Given the description of an element on the screen output the (x, y) to click on. 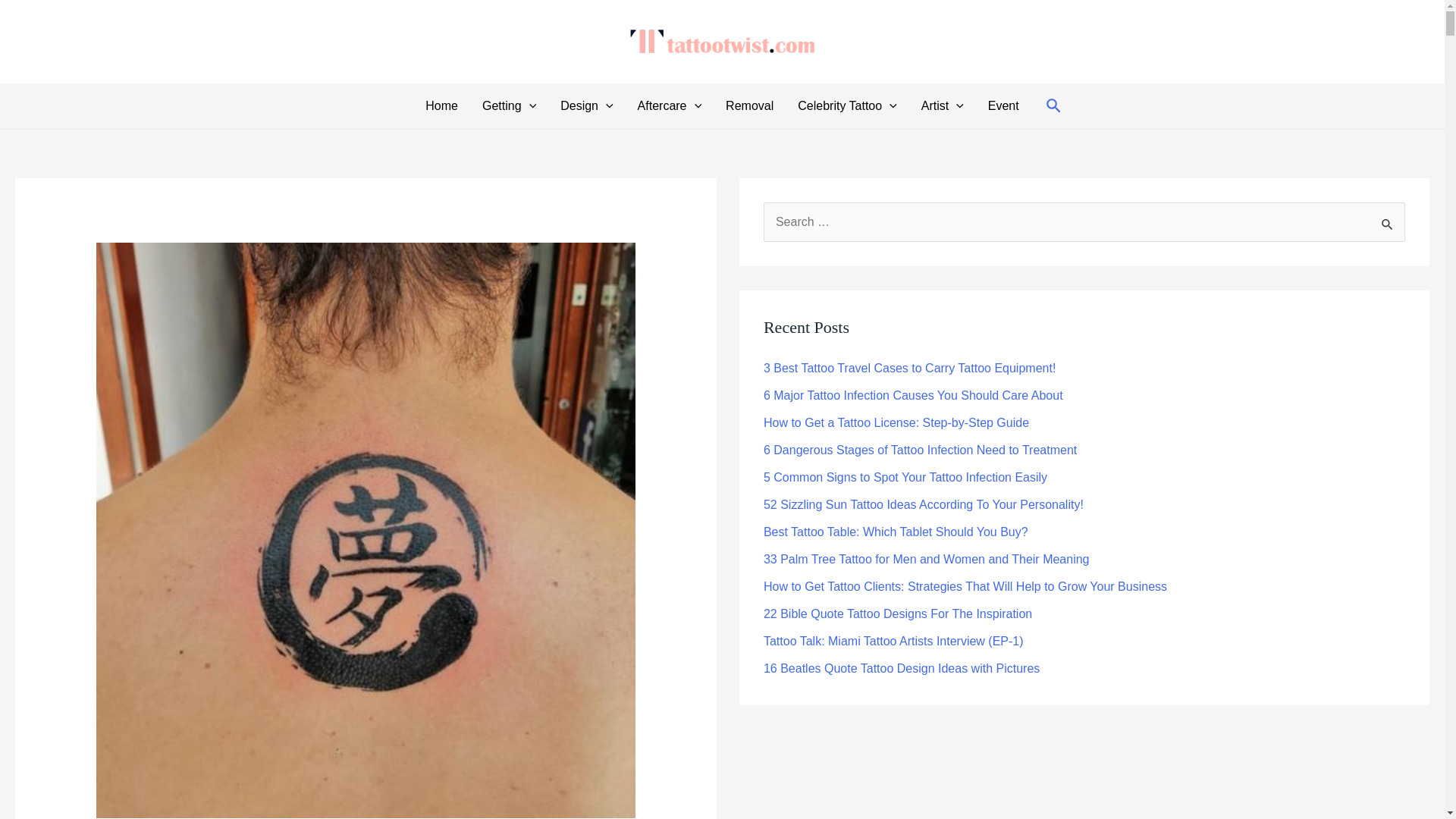
Celebrity Tattoo (847, 105)
Event (1002, 105)
Design (586, 105)
Getting (509, 105)
Aftercare (670, 105)
Removal (749, 105)
Home (441, 105)
Artist (941, 105)
